Given the description of an element on the screen output the (x, y) to click on. 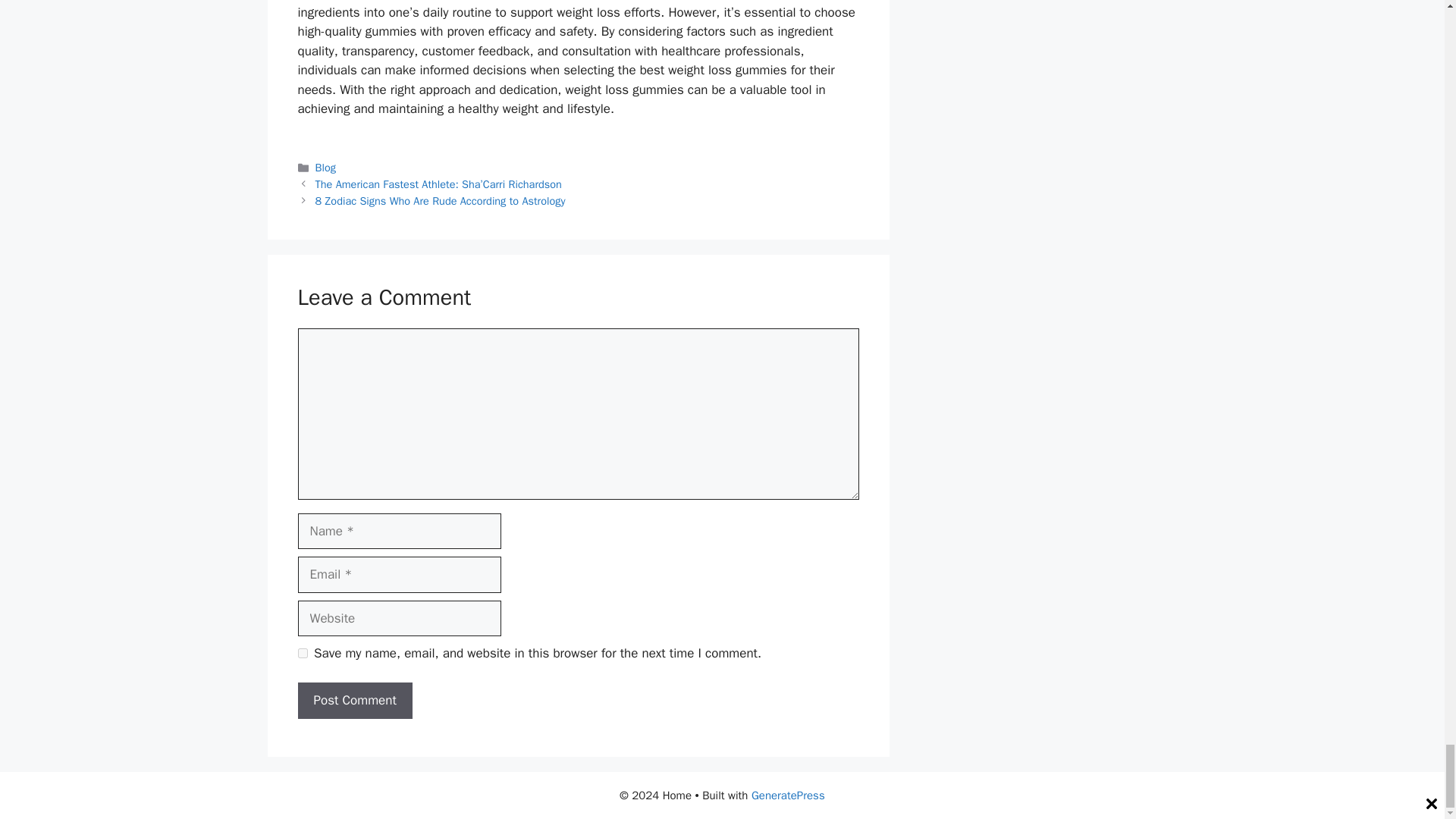
Post Comment (354, 700)
Post Comment (354, 700)
Blog (325, 167)
8 Zodiac Signs Who Are Rude According to Astrology (440, 201)
yes (302, 653)
GeneratePress (788, 795)
